Given the description of an element on the screen output the (x, y) to click on. 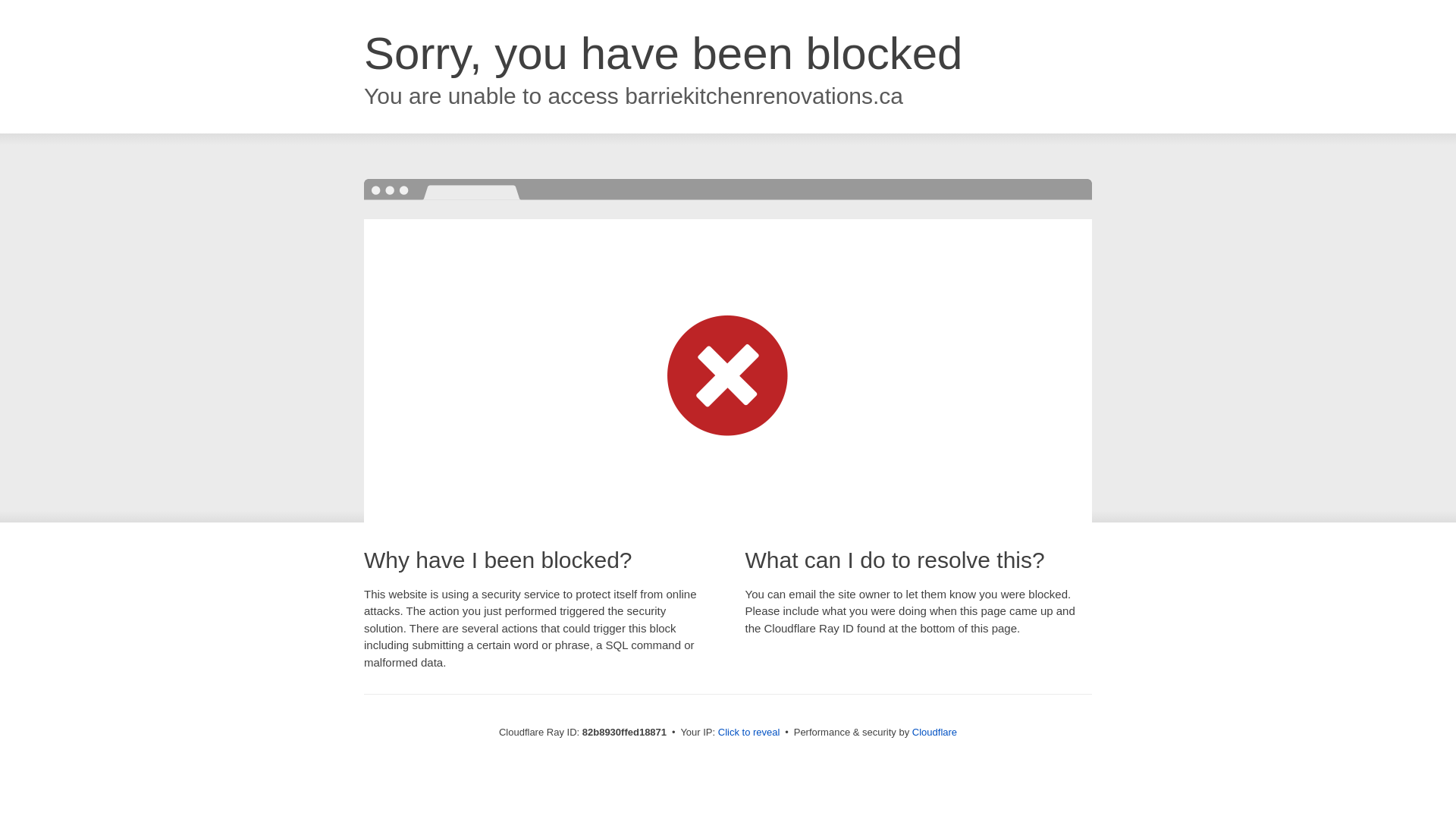
Cloudflare Element type: text (934, 731)
Click to reveal Element type: text (749, 732)
